Given the description of an element on the screen output the (x, y) to click on. 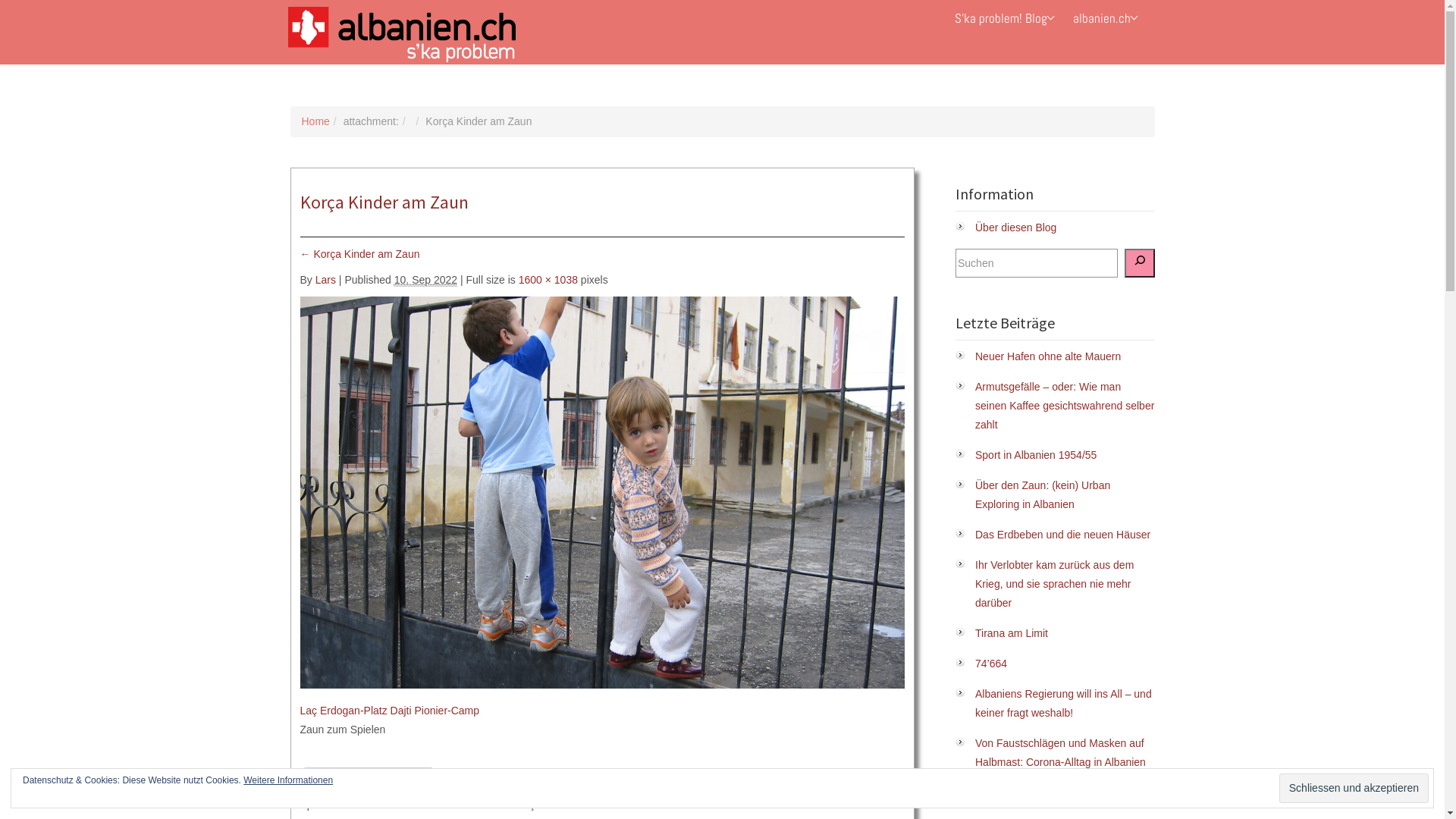
Lars Element type: text (325, 279)
Home Element type: text (315, 121)
Schliessen und akzeptieren Element type: text (1353, 788)
Tirana am Limit Element type: text (1011, 633)
Weitere Informationen Element type: text (287, 780)
Neuer Hafen ohne alte Mauern Element type: text (1047, 356)
Sport in Albanien 1954/55 Element type: text (1035, 454)
Dajti Pionier-Camp Element type: text (434, 710)
